Given the description of an element on the screen output the (x, y) to click on. 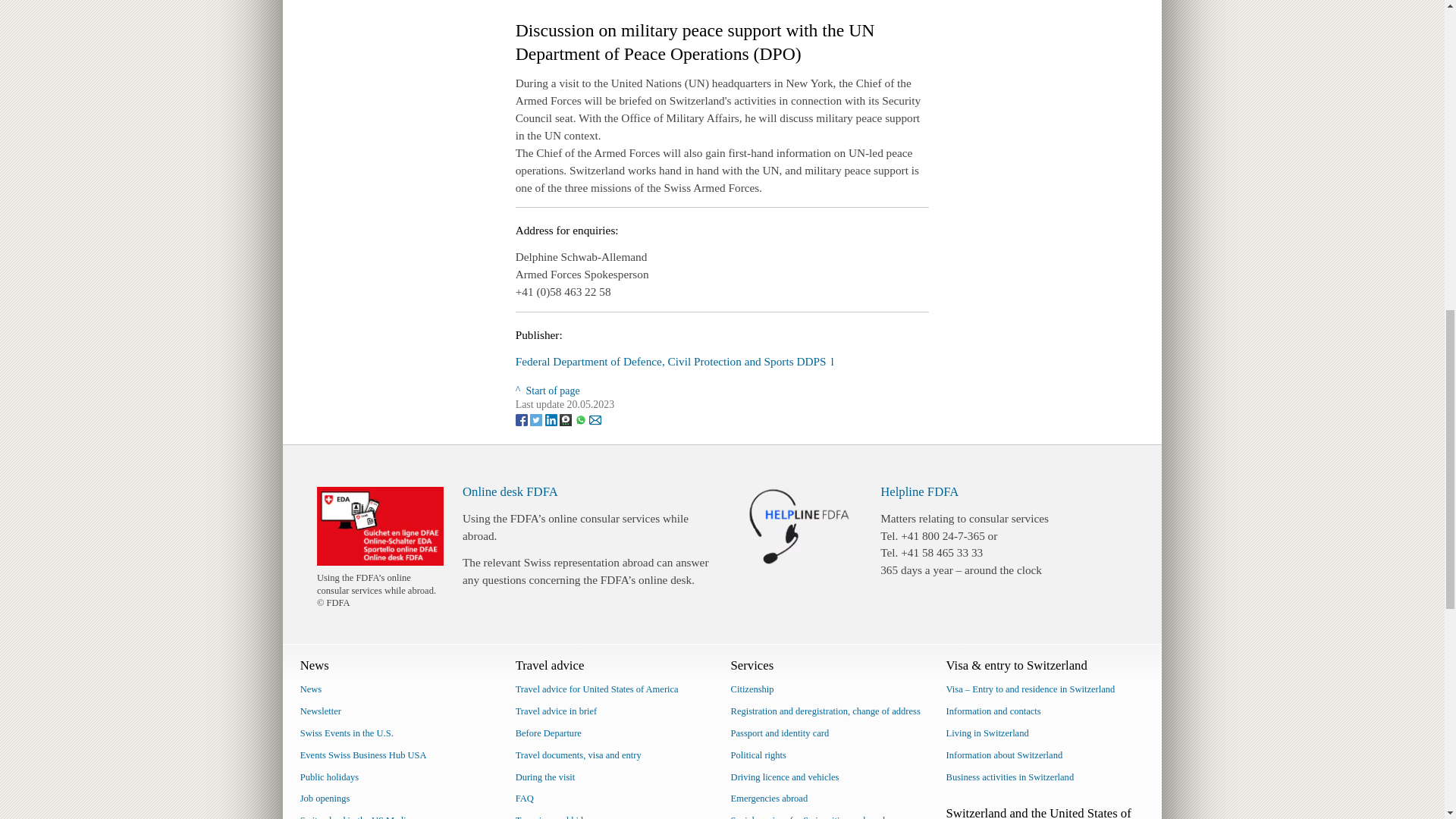
External Link (674, 360)
